Given the description of an element on the screen output the (x, y) to click on. 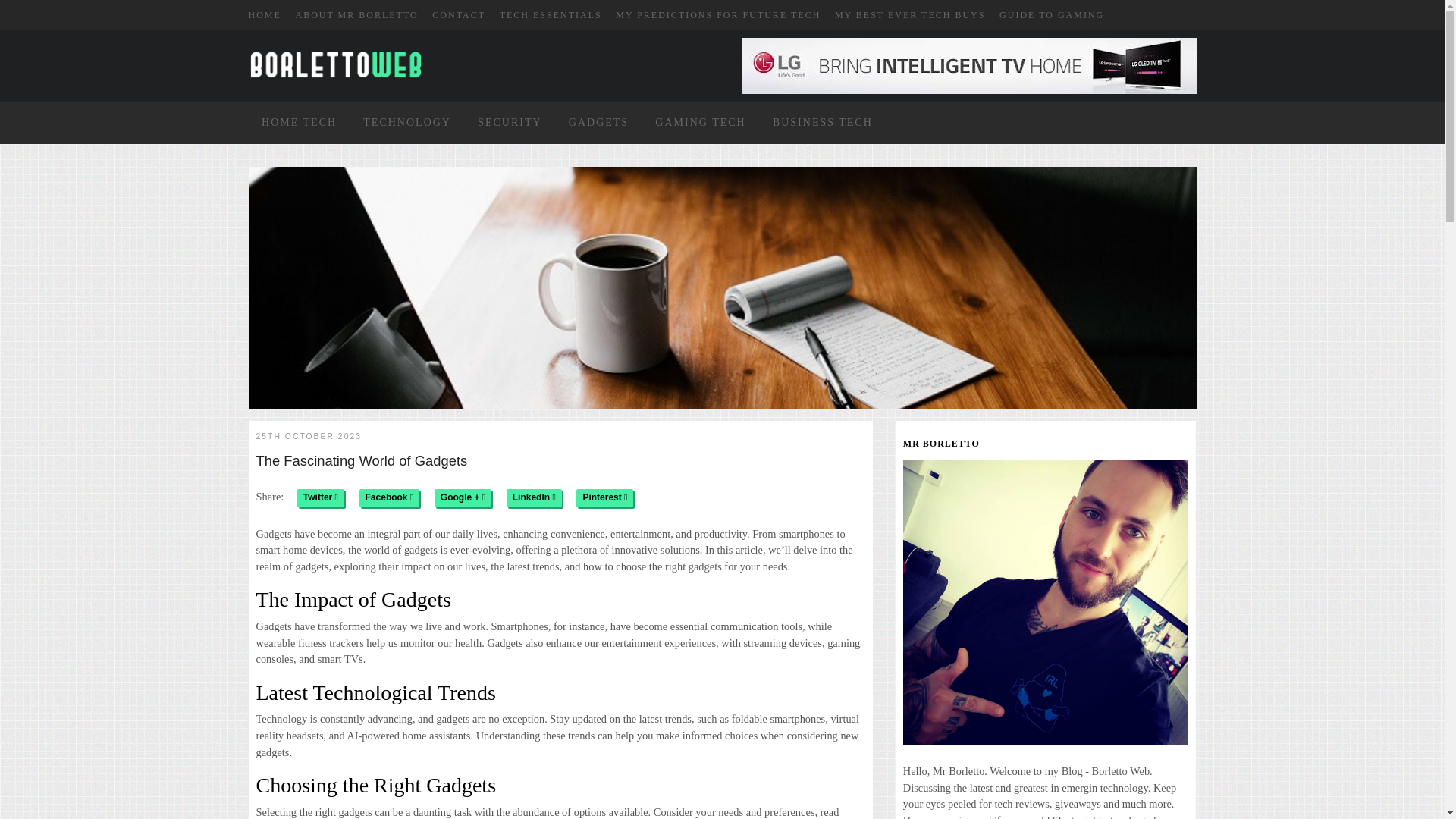
BUSINESS TECH (823, 122)
TECHNOLOGY (406, 122)
HOME (264, 14)
Twitter (320, 497)
Security (509, 122)
Business Tech (823, 122)
GUIDE TO GAMING (1050, 14)
Facebook (389, 497)
Gadgets (598, 122)
HOME TECH (299, 122)
